Given the description of an element on the screen output the (x, y) to click on. 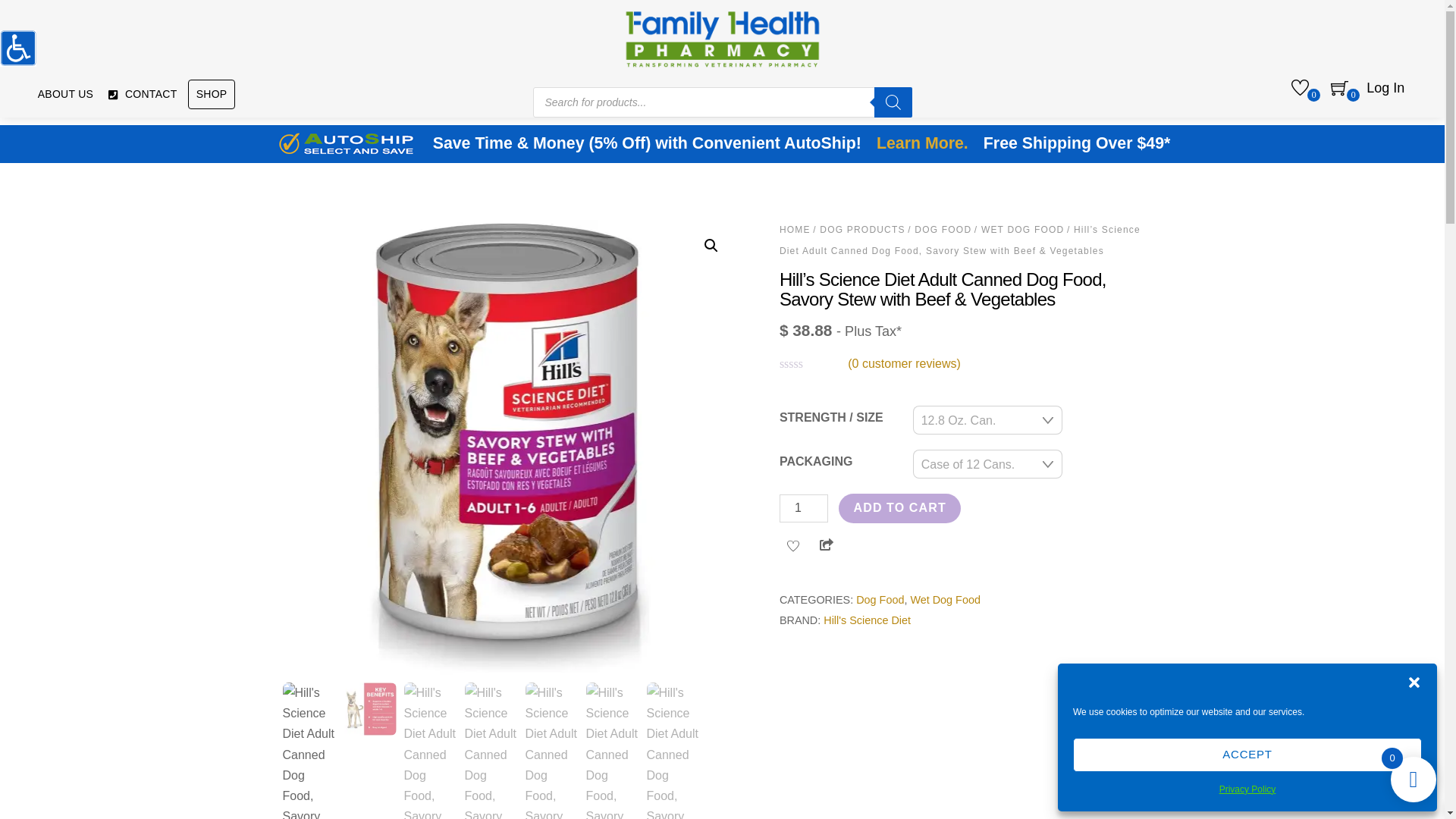
Accessibility Helper sidebar (18, 48)
Privacy Policy (1248, 789)
1 (803, 508)
ACCEPT (1247, 754)
